Given the description of an element on the screen output the (x, y) to click on. 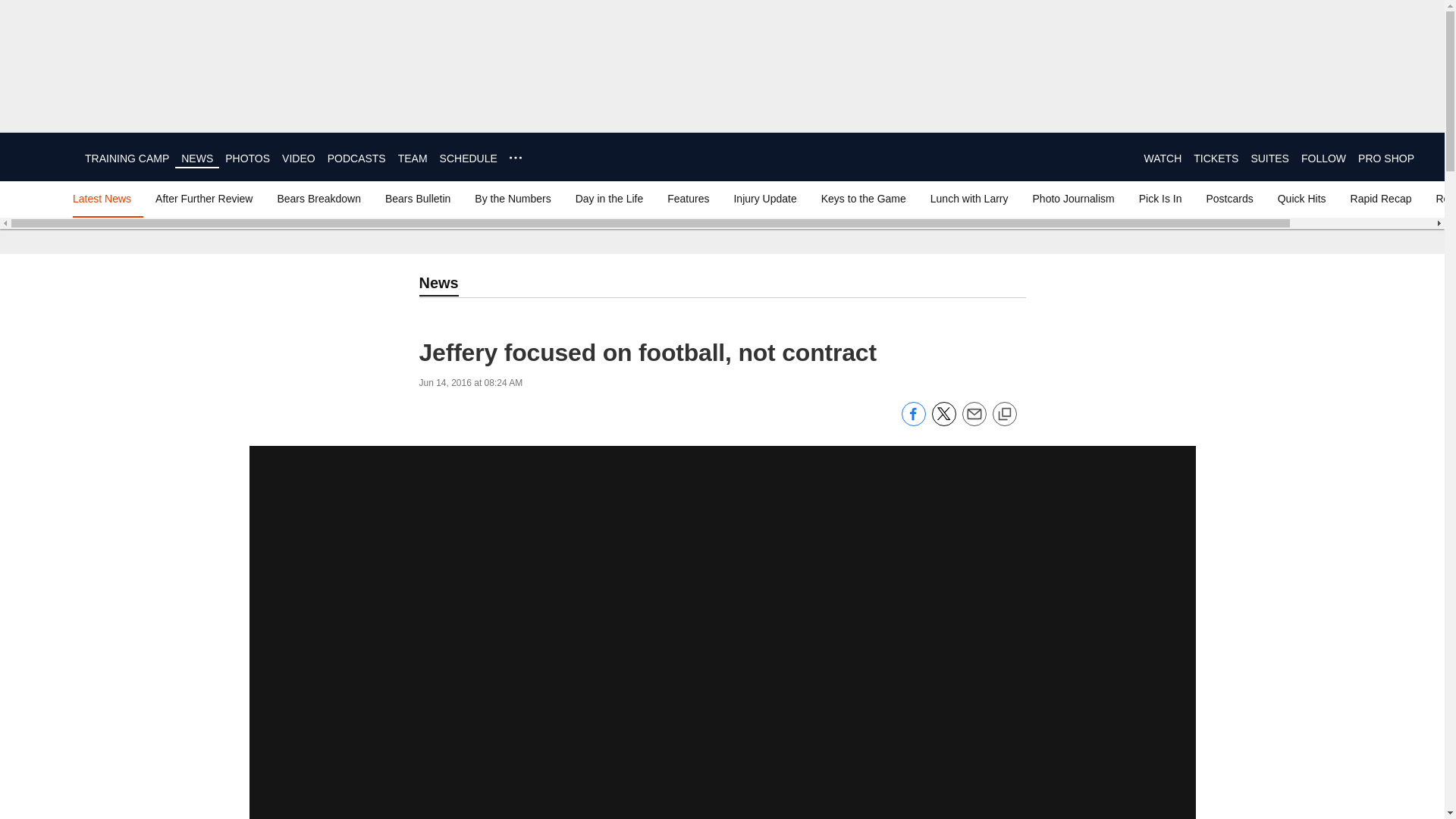
Pick Is In (1160, 198)
Keys to the Game (863, 198)
PHOTOS (247, 158)
TRAINING CAMP (126, 158)
By the Numbers (512, 198)
NEWS (196, 158)
WATCH (1161, 158)
SCHEDULE (468, 158)
FOLLOW (1323, 158)
Bears Breakdown (318, 198)
